Given the description of an element on the screen output the (x, y) to click on. 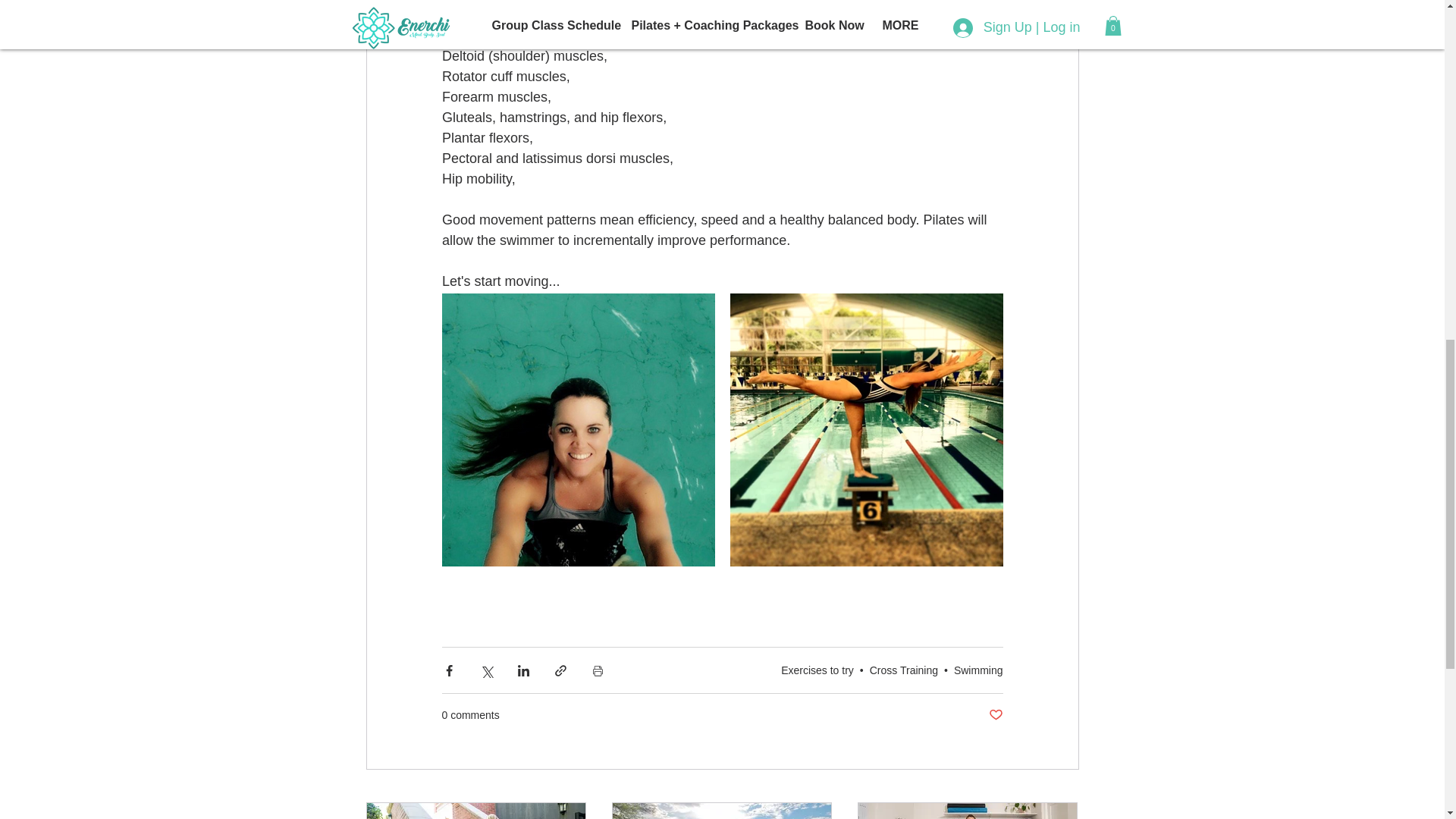
Swimming (978, 670)
Exercises to try (816, 670)
Post not marked as liked (995, 715)
Cross Training (903, 670)
